Given the description of an element on the screen output the (x, y) to click on. 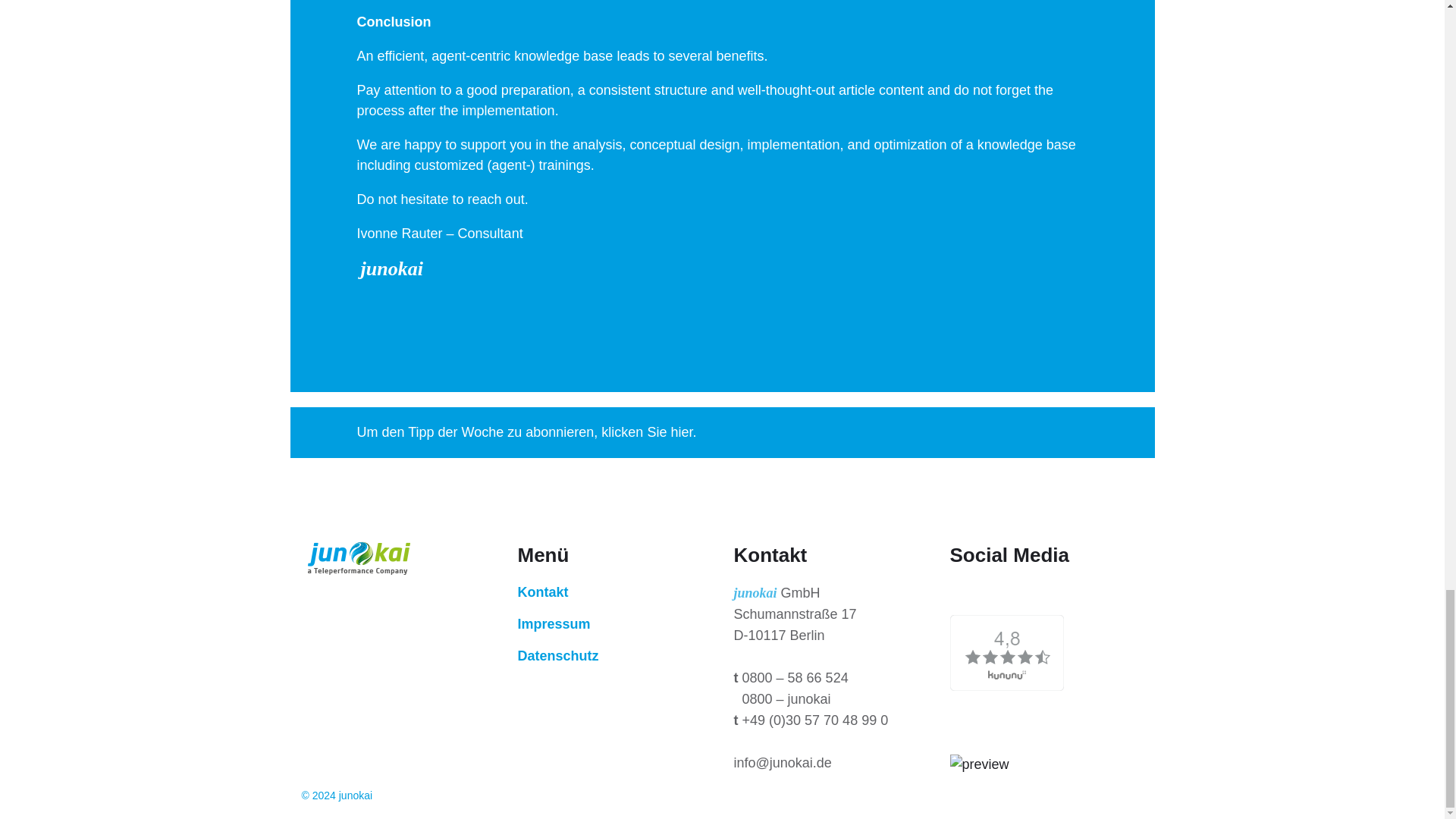
Datenschutz (557, 655)
Impressum (552, 623)
hier (681, 432)
Kontakt (541, 591)
